Given the description of an element on the screen output the (x, y) to click on. 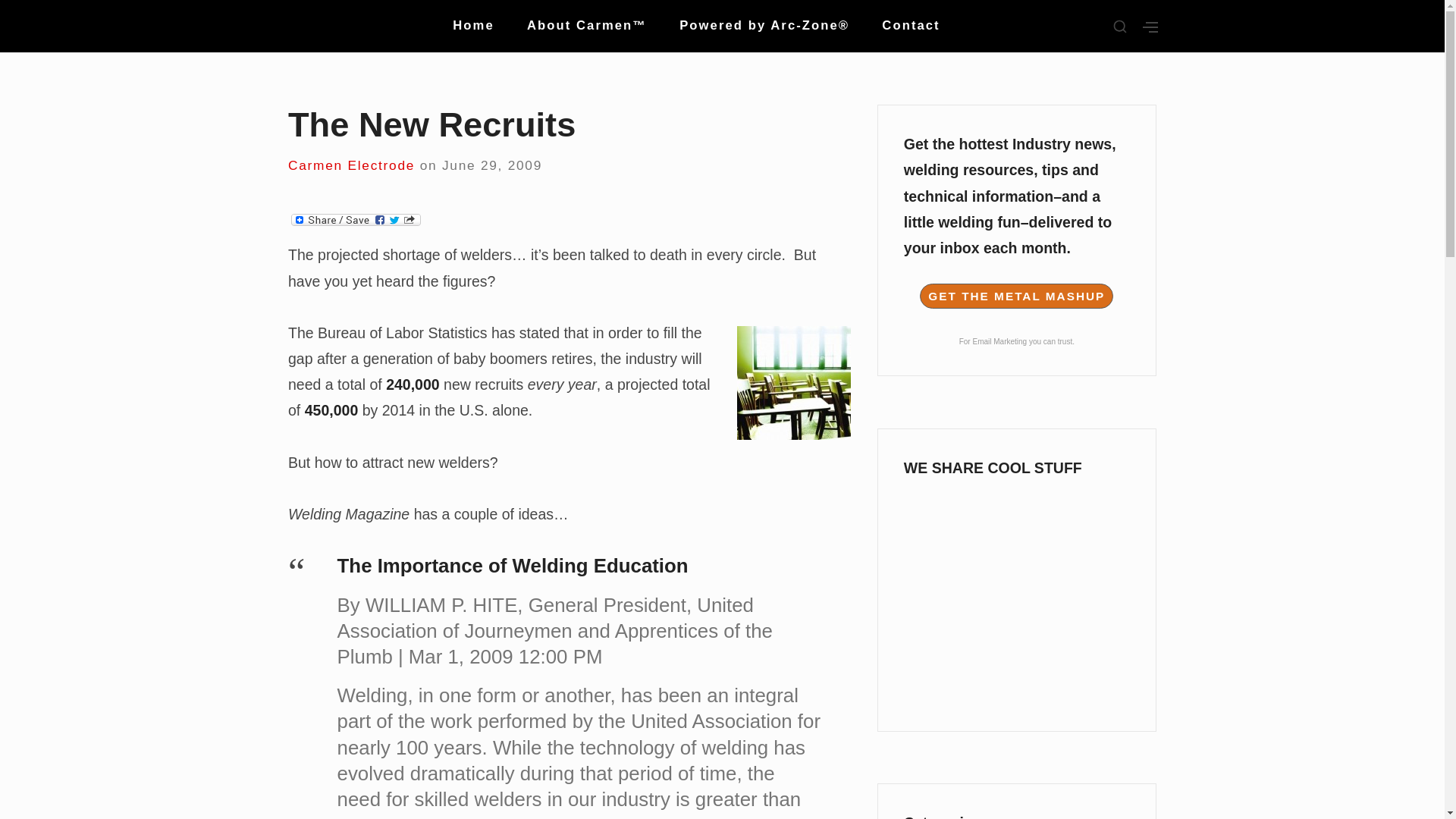
Home (473, 26)
SHOW SECONDARY SIDEBAR (1150, 26)
Follow Us on Twitter (1016, 584)
SHOW SECONDARY SIDEBAR (1120, 26)
Carmen Electrode (351, 165)
Follow Us on Facebook (1016, 522)
Contact (910, 26)
Follow Us on Instagram (1016, 686)
Follow Us on YouTube (1016, 635)
GET THE METAL MASHUP (1016, 295)
